Given the description of an element on the screen output the (x, y) to click on. 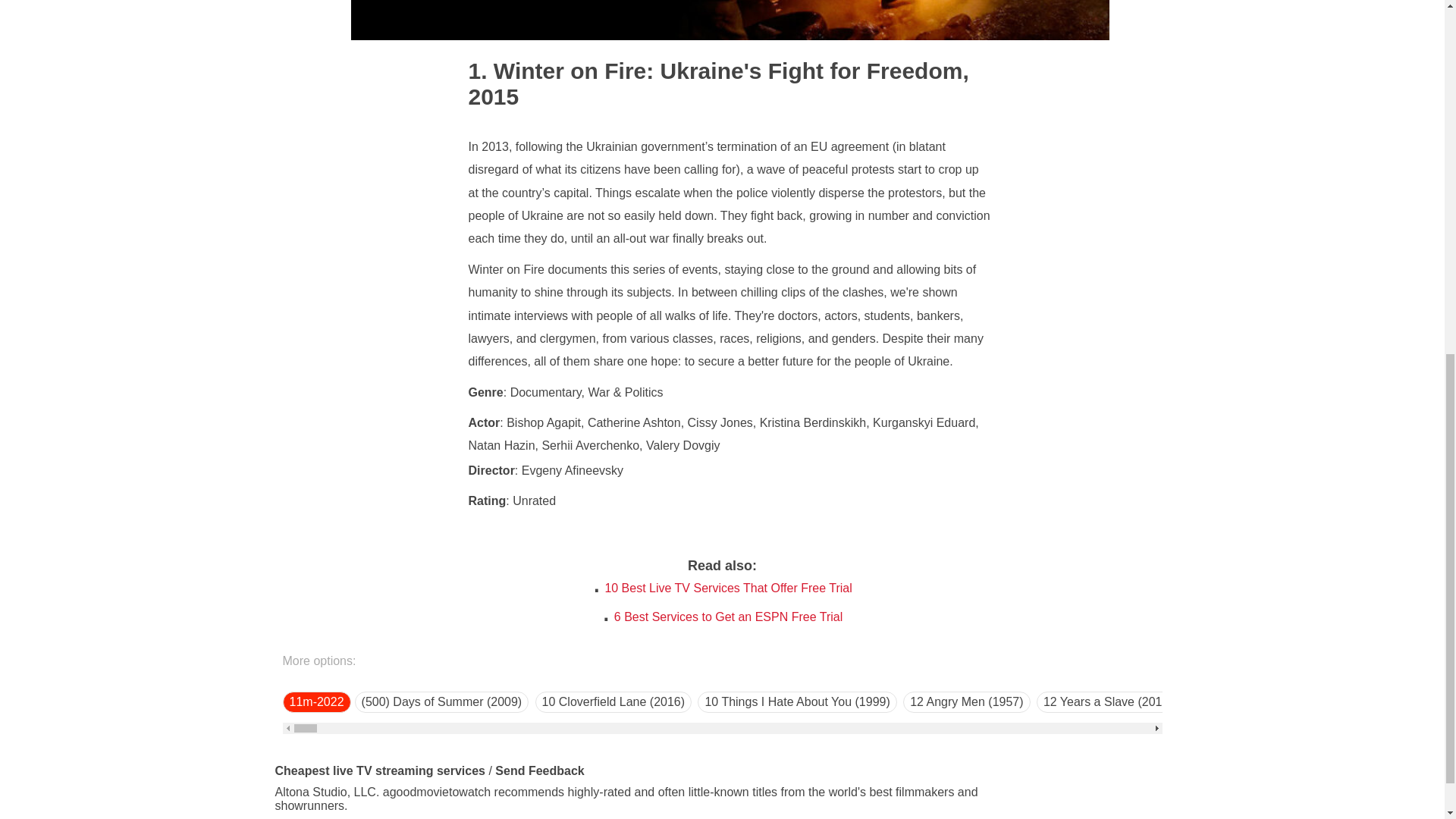
Winter on Fire: Ukraine's Fight for Freedom (715, 70)
